Given the description of an element on the screen output the (x, y) to click on. 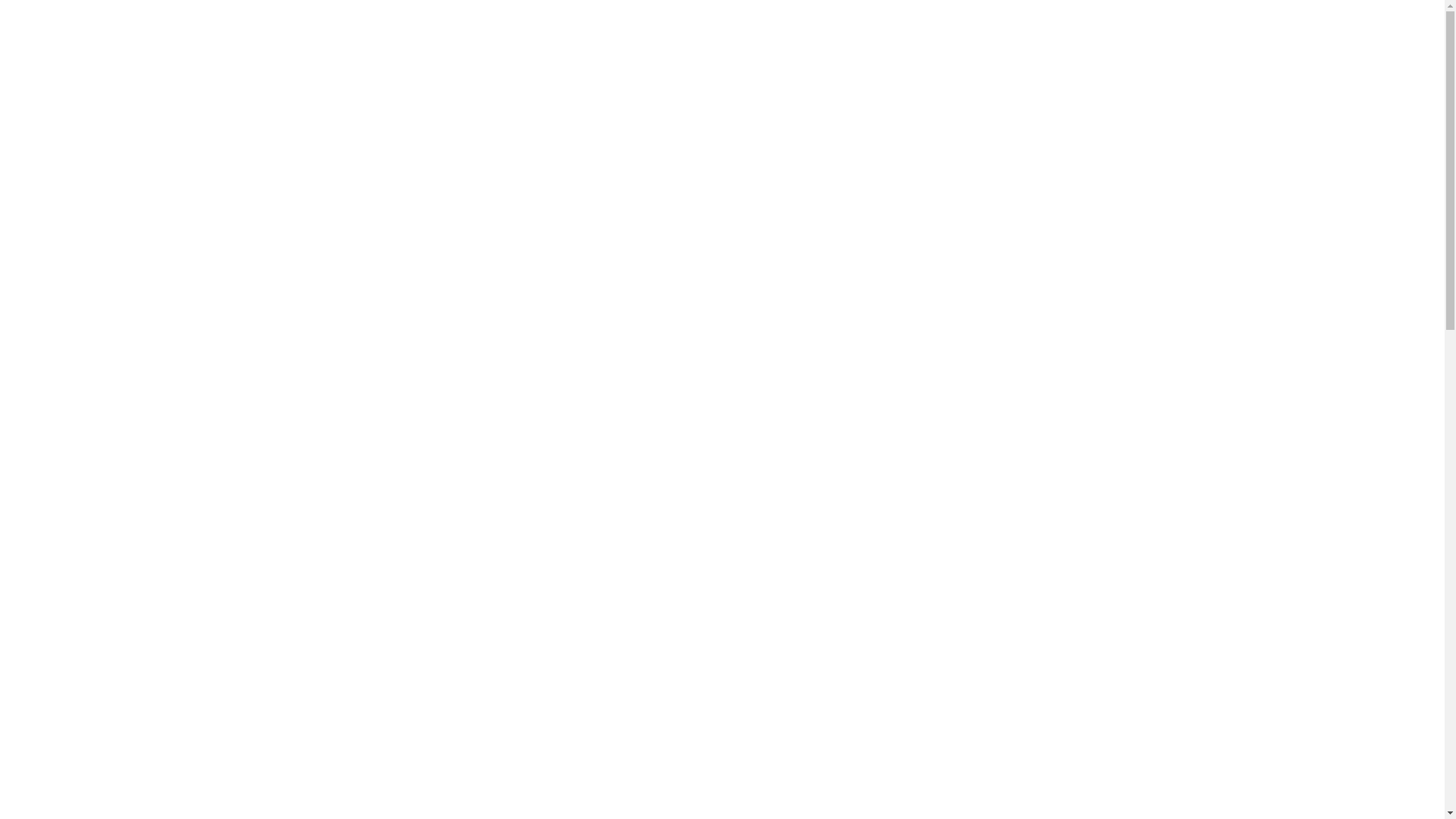
Contact Us Element type: text (575, 126)
Projects And Affiliates Element type: text (376, 126)
NEWS Element type: text (305, 294)
Home Element type: text (46, 126)
ABOUT US Element type: text (305, 196)
PROJECTS AND AFFILIATES Element type: text (305, 261)
HOME Element type: text (1163, 466)
Benxi Element type: hover (19, 42)
MEET OUR TEAM Element type: text (305, 229)
ENERGY Element type: text (1215, 466)
CONTACT US Element type: text (305, 326)
About Us Element type: text (127, 126)
News Element type: text (491, 126)
Meet Our Team Element type: text (235, 126)
HOME Element type: text (305, 163)
